Given the description of an element on the screen output the (x, y) to click on. 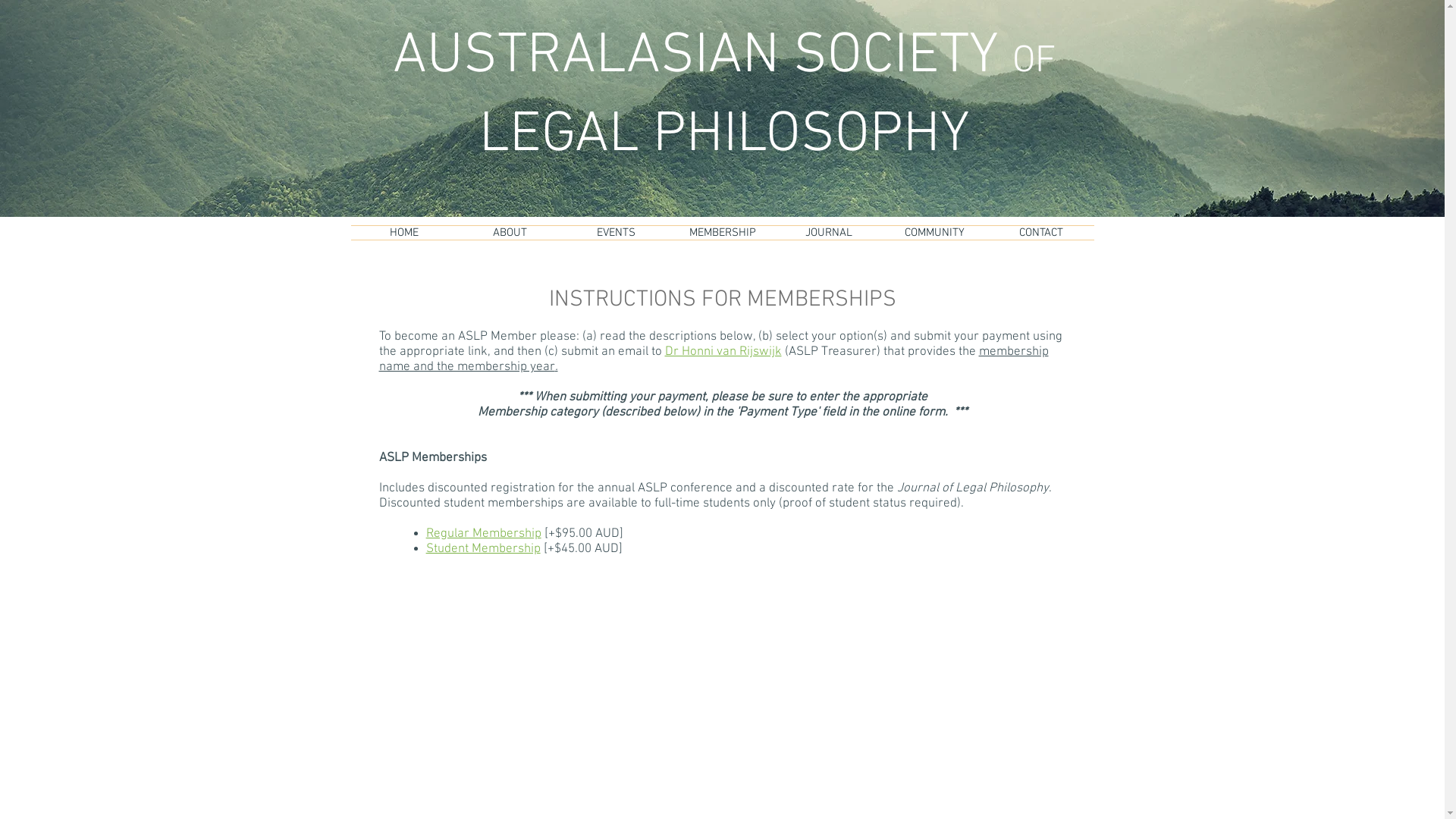
COMMUNITY Element type: text (934, 232)
MEMBERSHIP Element type: text (721, 232)
HOME Element type: text (403, 232)
ABOUT Element type: text (509, 232)
CONTACT Element type: text (1040, 232)
AUSTRALASIAN SOCIETY OF LEGAL PHILOSOPHY Element type: text (724, 95)
Student Membership Element type: text (483, 548)
Regular Membership Element type: text (483, 533)
Dr Honni van Rijswijk Element type: text (722, 351)
EVENTS Element type: text (615, 232)
JOURNAL Element type: text (828, 232)
